Given the description of an element on the screen output the (x, y) to click on. 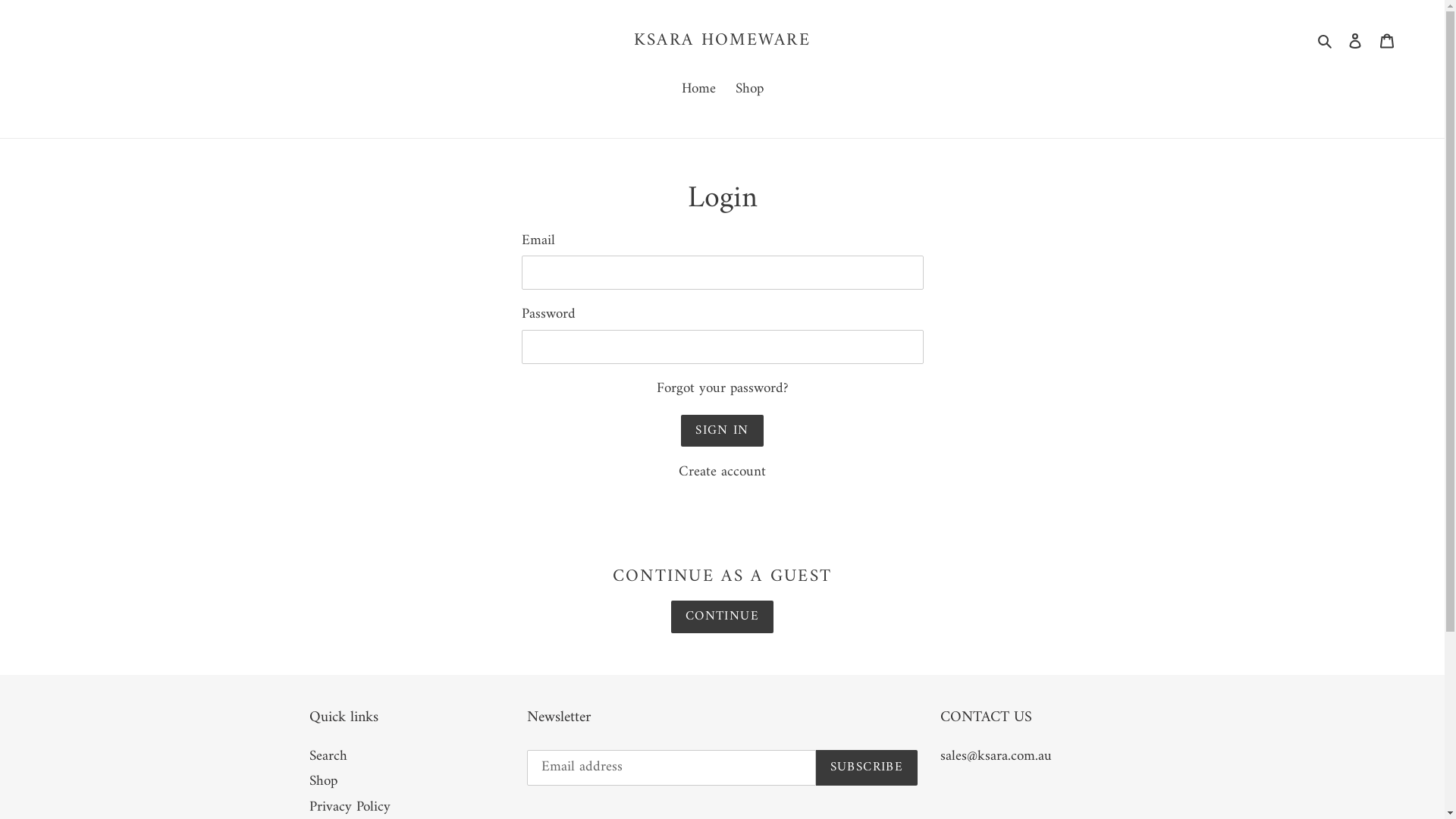
Sign In Element type: text (721, 430)
Cart Element type: text (1386, 40)
SUBSCRIBE Element type: text (866, 767)
Search Element type: text (328, 755)
Log in Element type: text (1355, 40)
Continue Element type: text (722, 616)
Create account Element type: text (721, 471)
Shop Element type: text (749, 90)
Forgot your password? Element type: text (722, 388)
Search Element type: text (1325, 41)
Shop Element type: text (323, 780)
Home Element type: text (697, 90)
KSARA HOMEWARE Element type: text (721, 40)
